Given the description of an element on the screen output the (x, y) to click on. 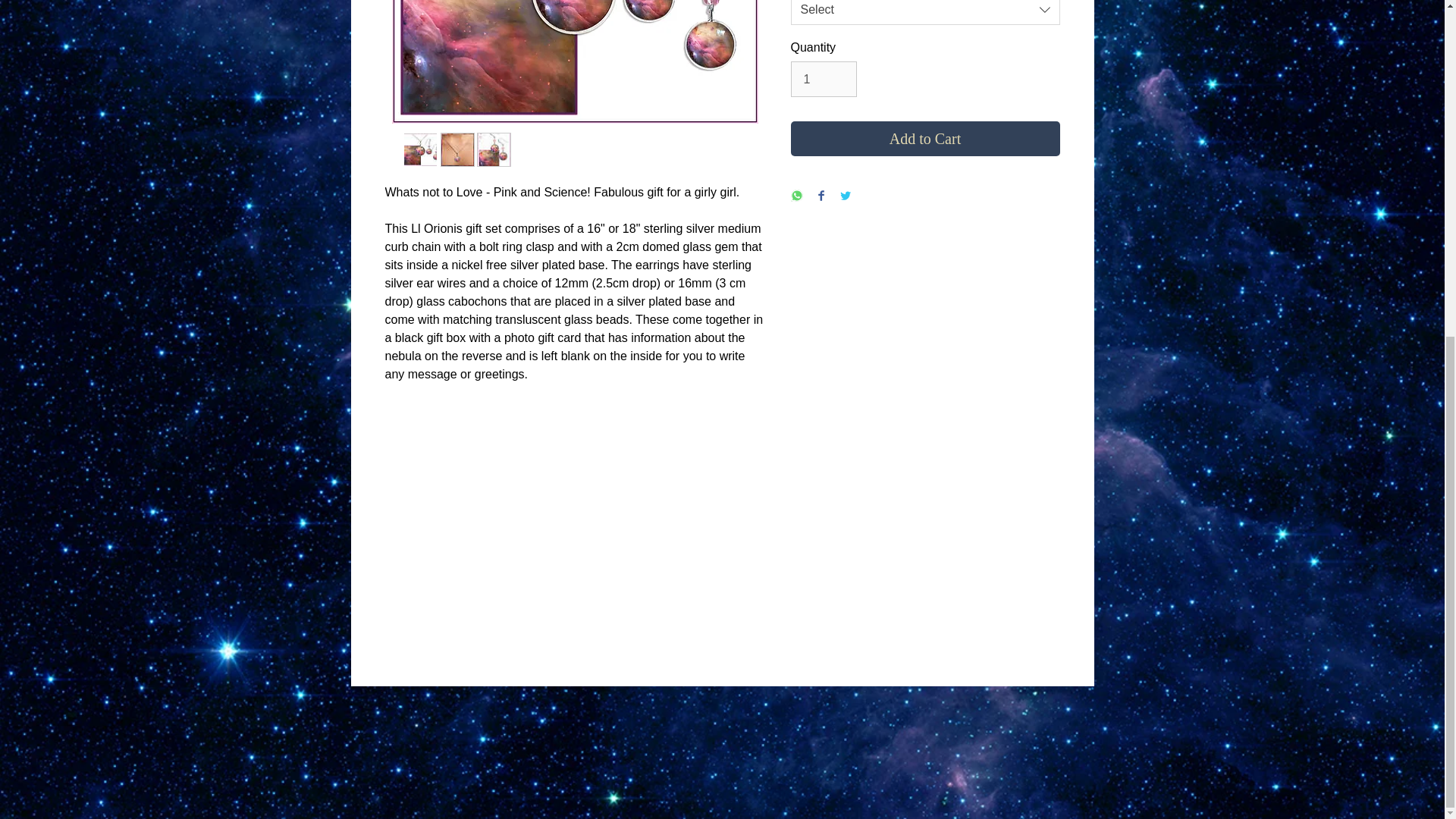
1 (823, 78)
Select (924, 12)
Add to Cart (924, 138)
